Given the description of an element on the screen output the (x, y) to click on. 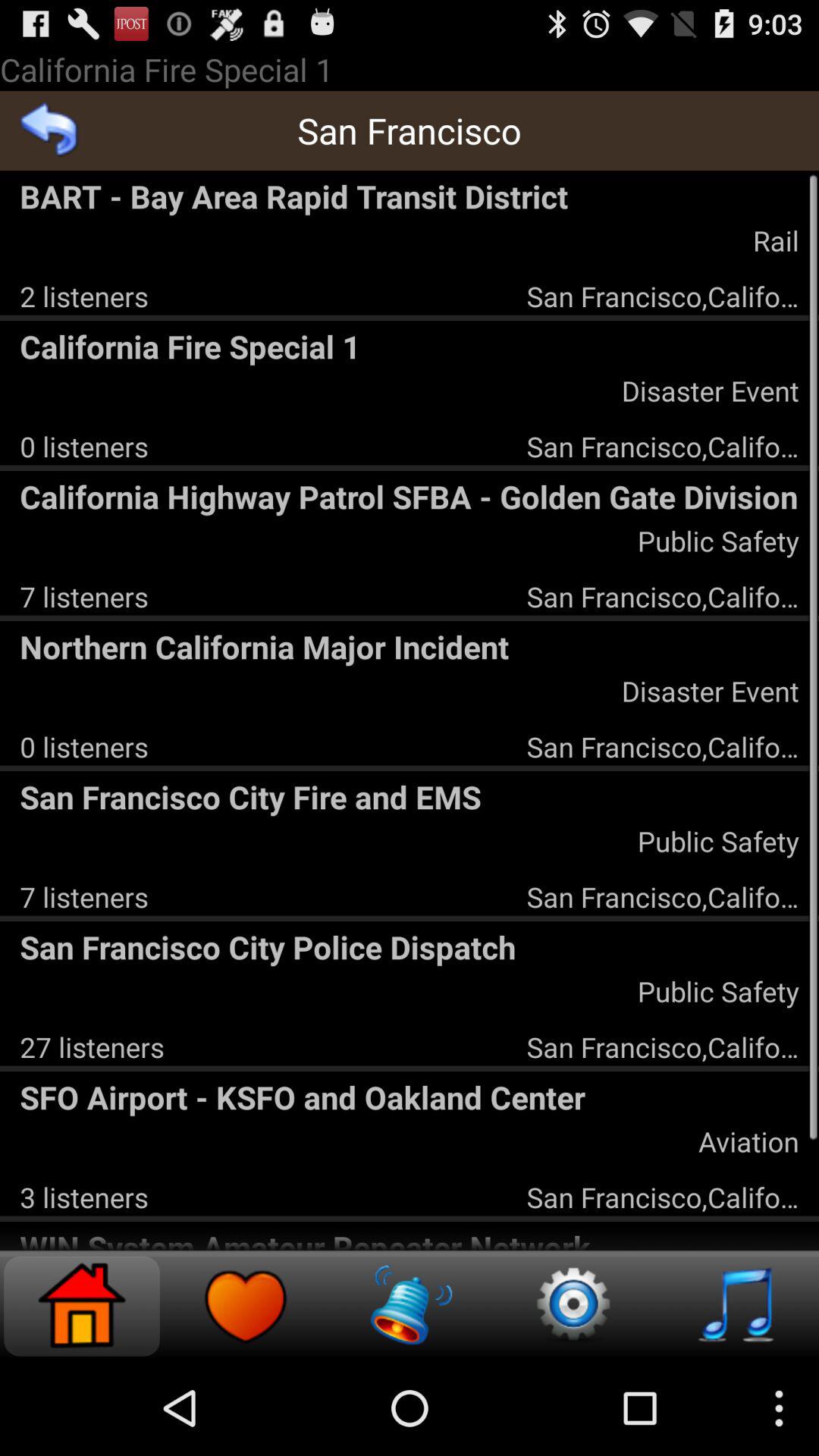
launch icon to the left of san francisco,california icon (83, 1196)
